Given the description of an element on the screen output the (x, y) to click on. 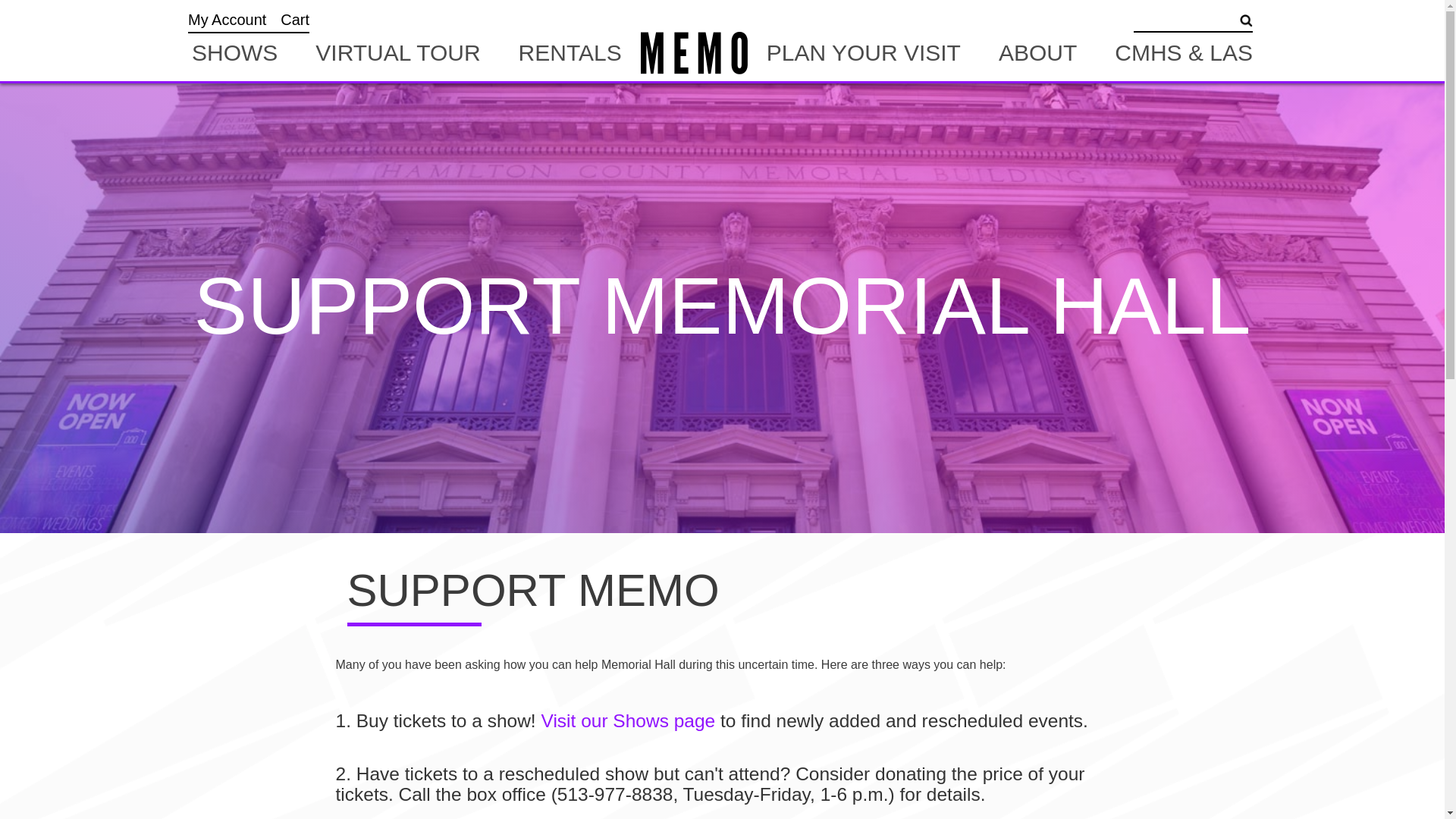
VIRTUAL TOUR (397, 53)
ABOUT (1037, 53)
My Account (226, 19)
PLAN YOUR VISIT (863, 53)
RENTALS (569, 53)
Visit our Shows page (627, 720)
Cart (294, 19)
SHOWS (235, 53)
